Given the description of an element on the screen output the (x, y) to click on. 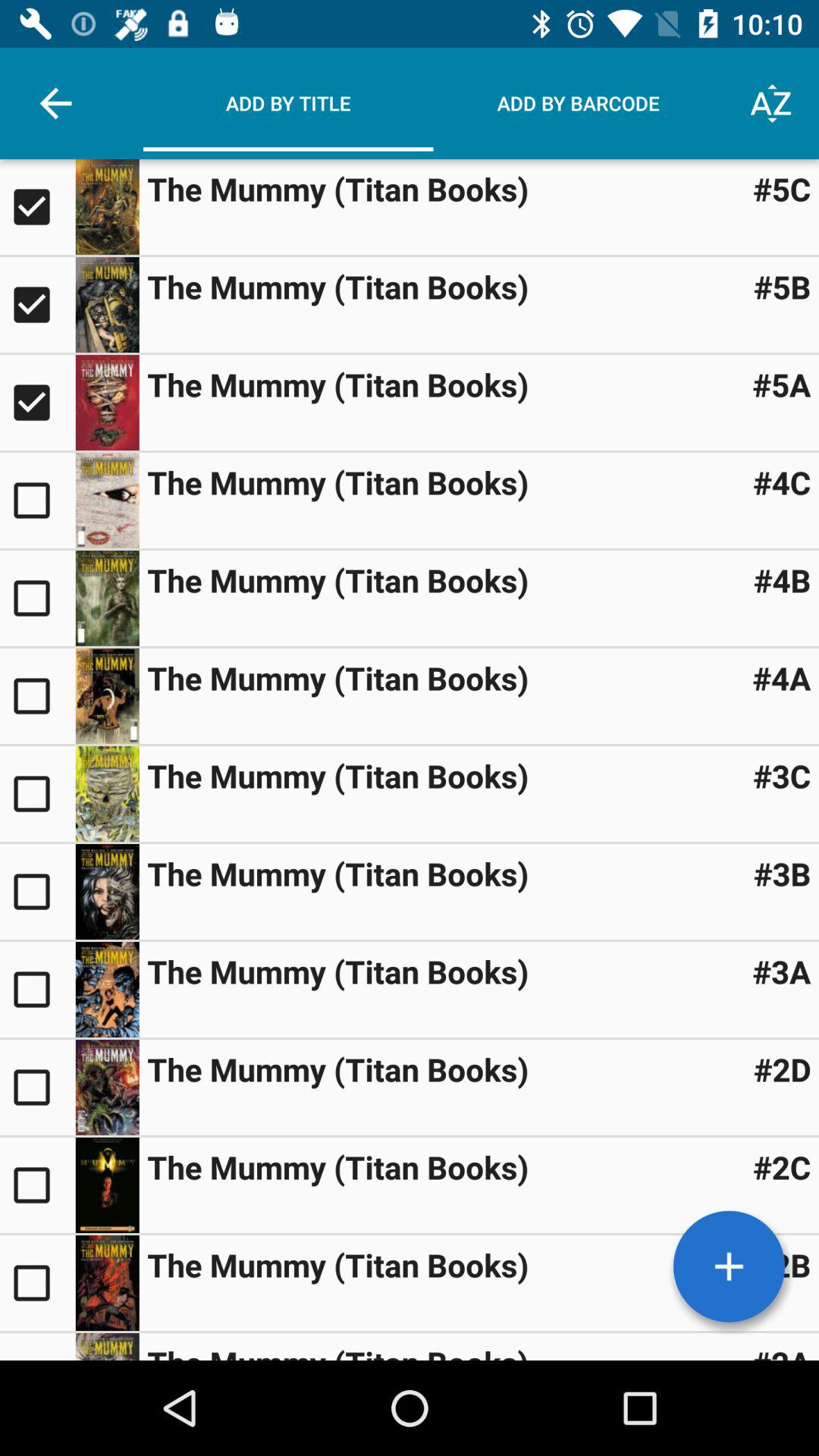
scroll to the #5a icon (781, 384)
